Given the description of an element on the screen output the (x, y) to click on. 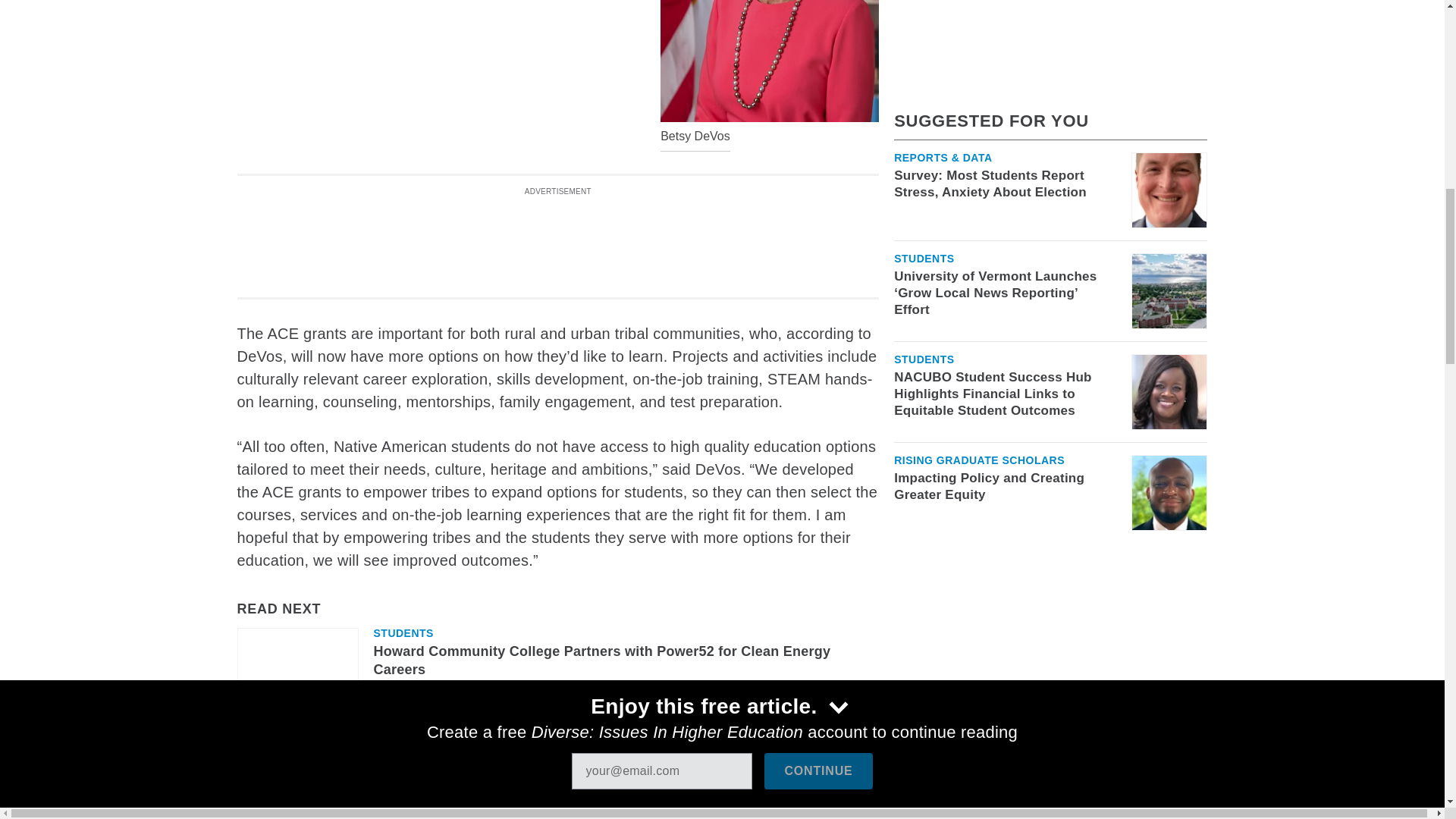
Students (402, 633)
3rd party ad content (557, 236)
